Given the description of an element on the screen output the (x, y) to click on. 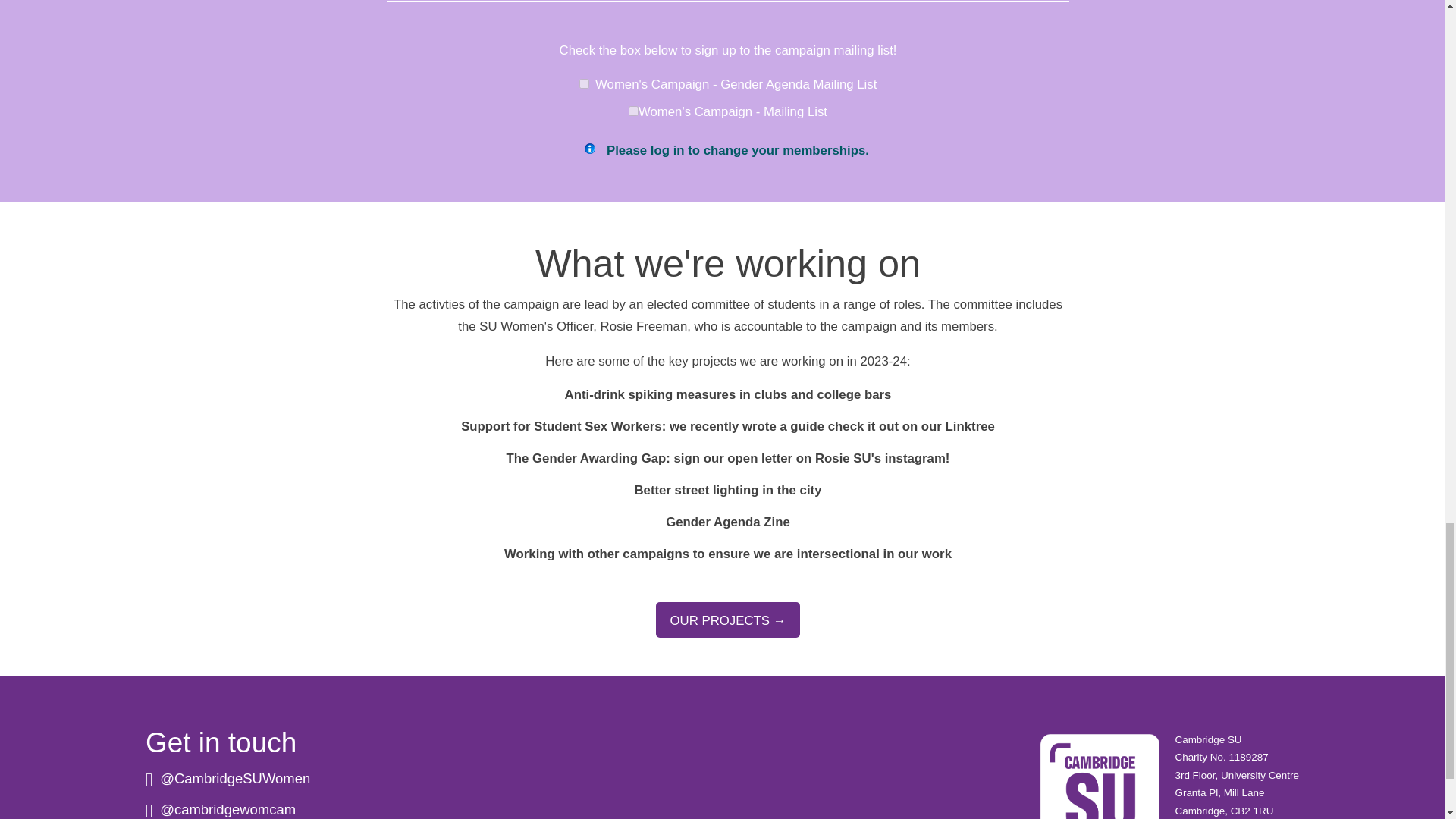
on (633, 111)
on (584, 83)
Please log in to change your memberships. (738, 150)
